Given the description of an element on the screen output the (x, y) to click on. 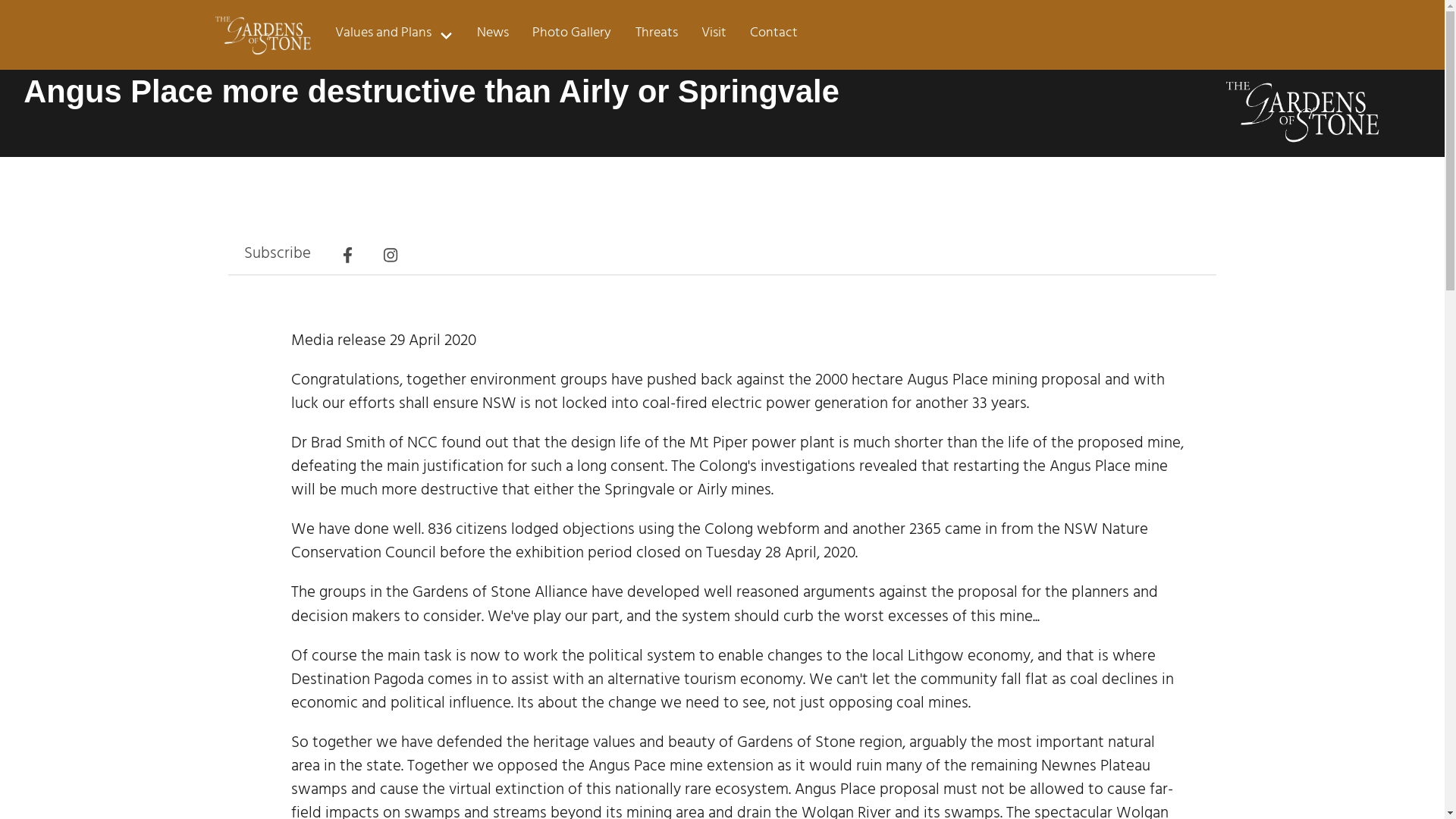
Values and Plans Element type: text (394, 34)
Threats Element type: text (656, 34)
News Element type: text (492, 34)
Subscribe Element type: text (277, 255)
Visit Element type: text (713, 34)
Home Element type: hover (261, 34)
Skip to main content Element type: text (0, 26)
Contact Element type: text (773, 34)
Photo Gallery Element type: text (571, 34)
